Given the description of an element on the screen output the (x, y) to click on. 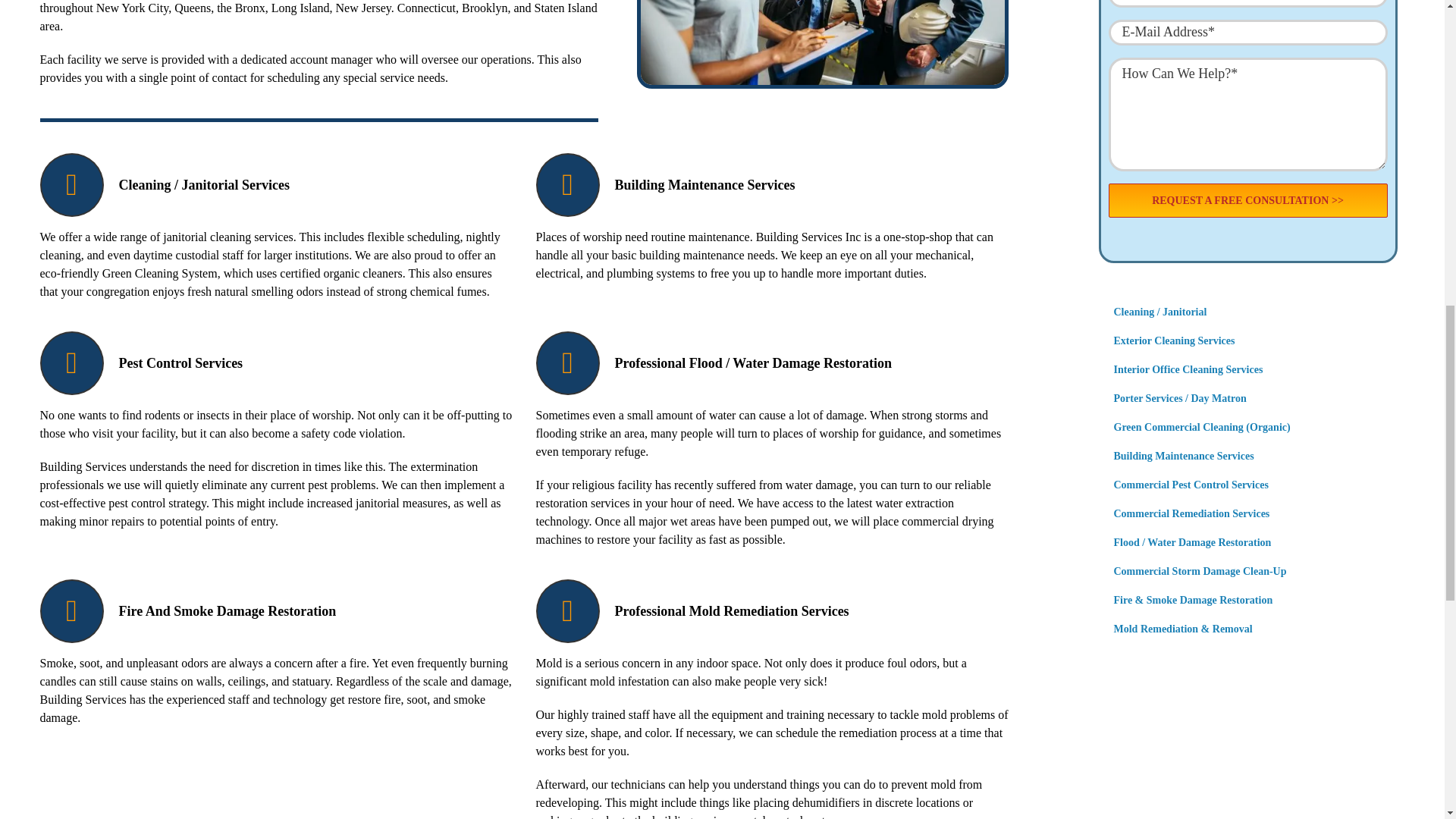
team-plan (823, 42)
